Given the description of an element on the screen output the (x, y) to click on. 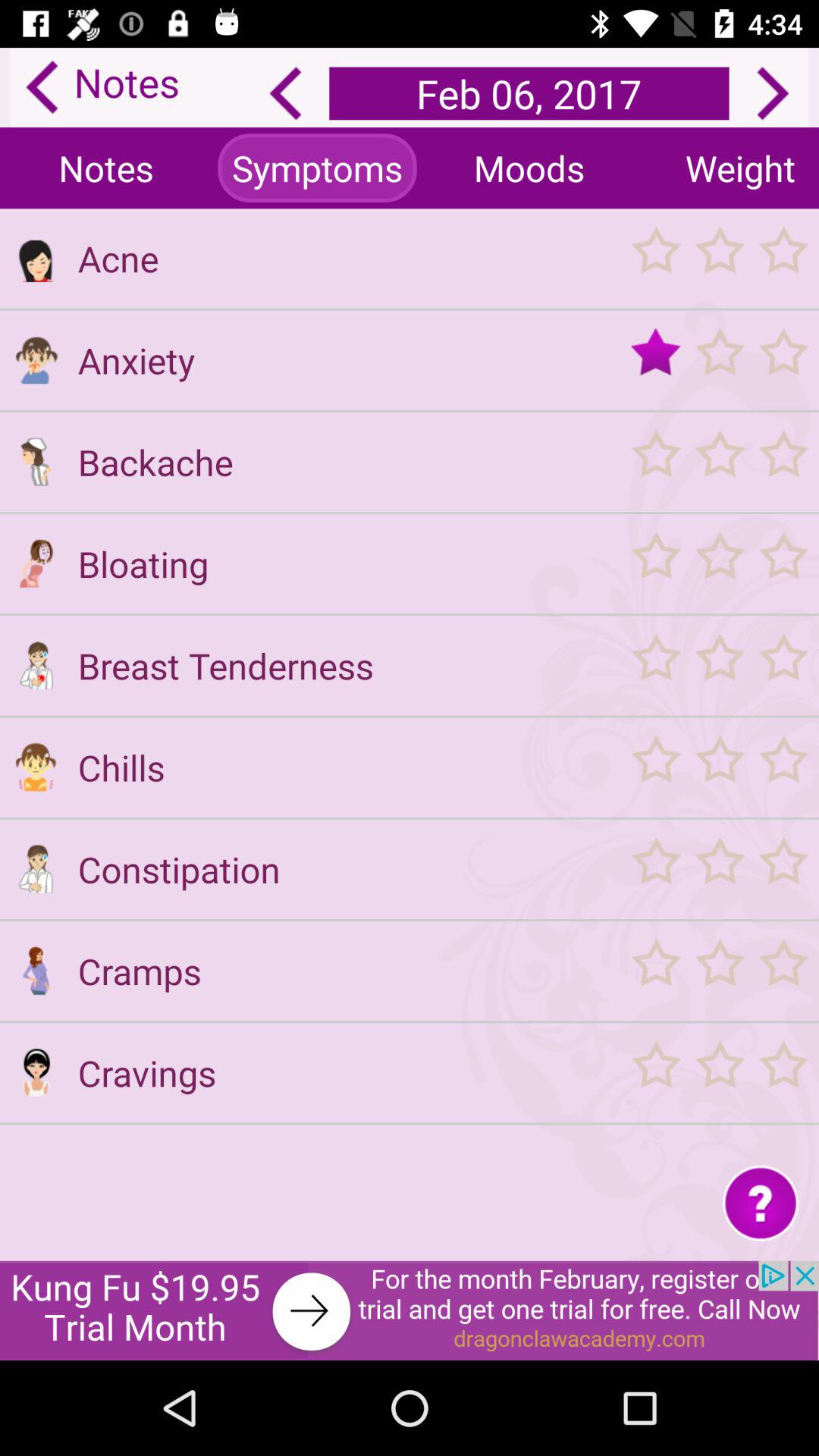
icone picture (35, 563)
